Given the description of an element on the screen output the (x, y) to click on. 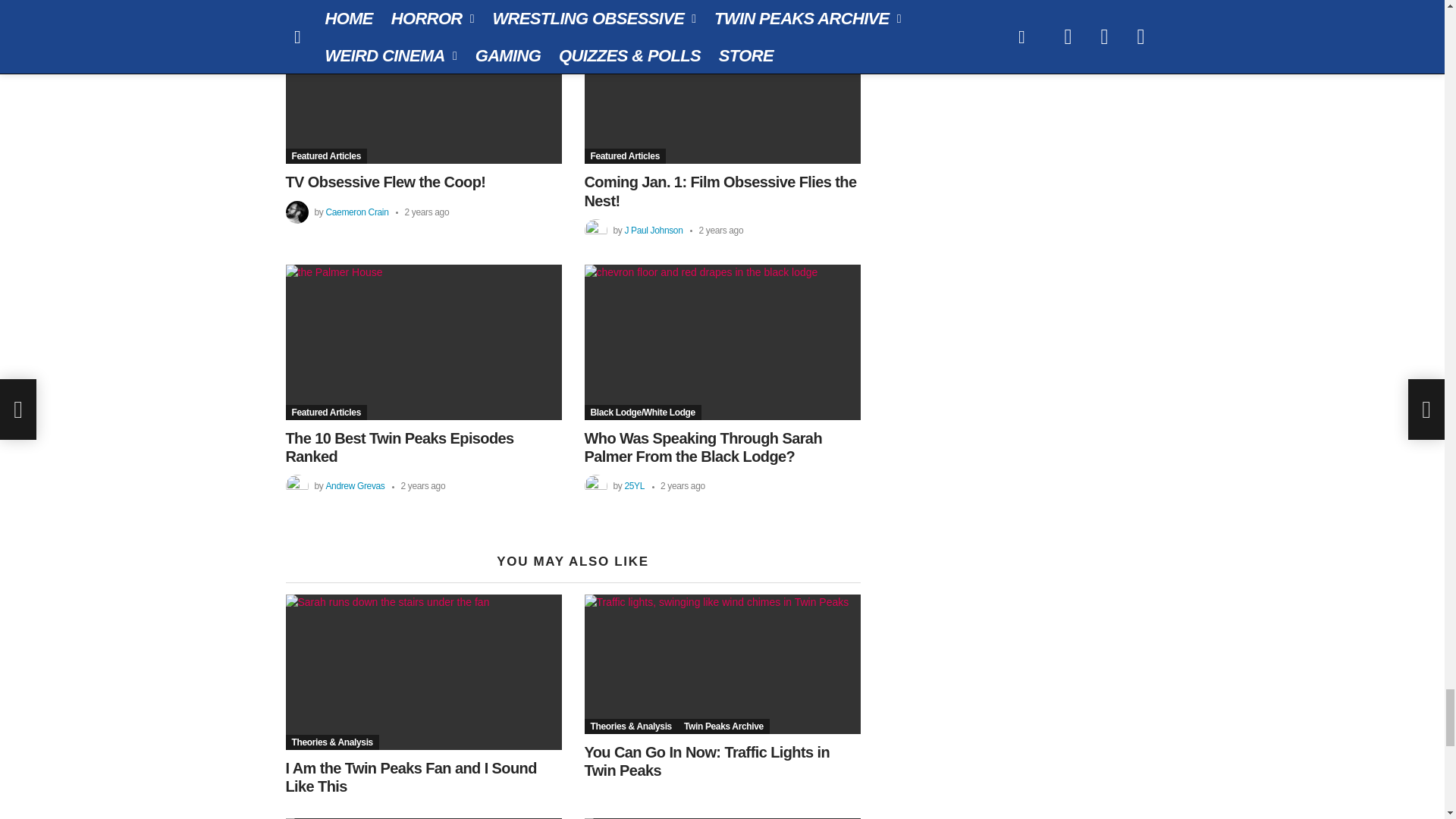
Posts by Andrew Grevas (354, 485)
TV Obsessive Flew the Coop! (422, 85)
Posts by Caemeron Crain (356, 212)
Posts by J Paul Johnson (653, 230)
The 10 Best Twin Peaks Episodes Ranked (422, 342)
Coming Jan. 1: Film Obsessive Flies the Nest! (721, 85)
December 29, 2022, 12:01 am (716, 230)
January 7, 2023, 11:55 pm (422, 212)
